Given the description of an element on the screen output the (x, y) to click on. 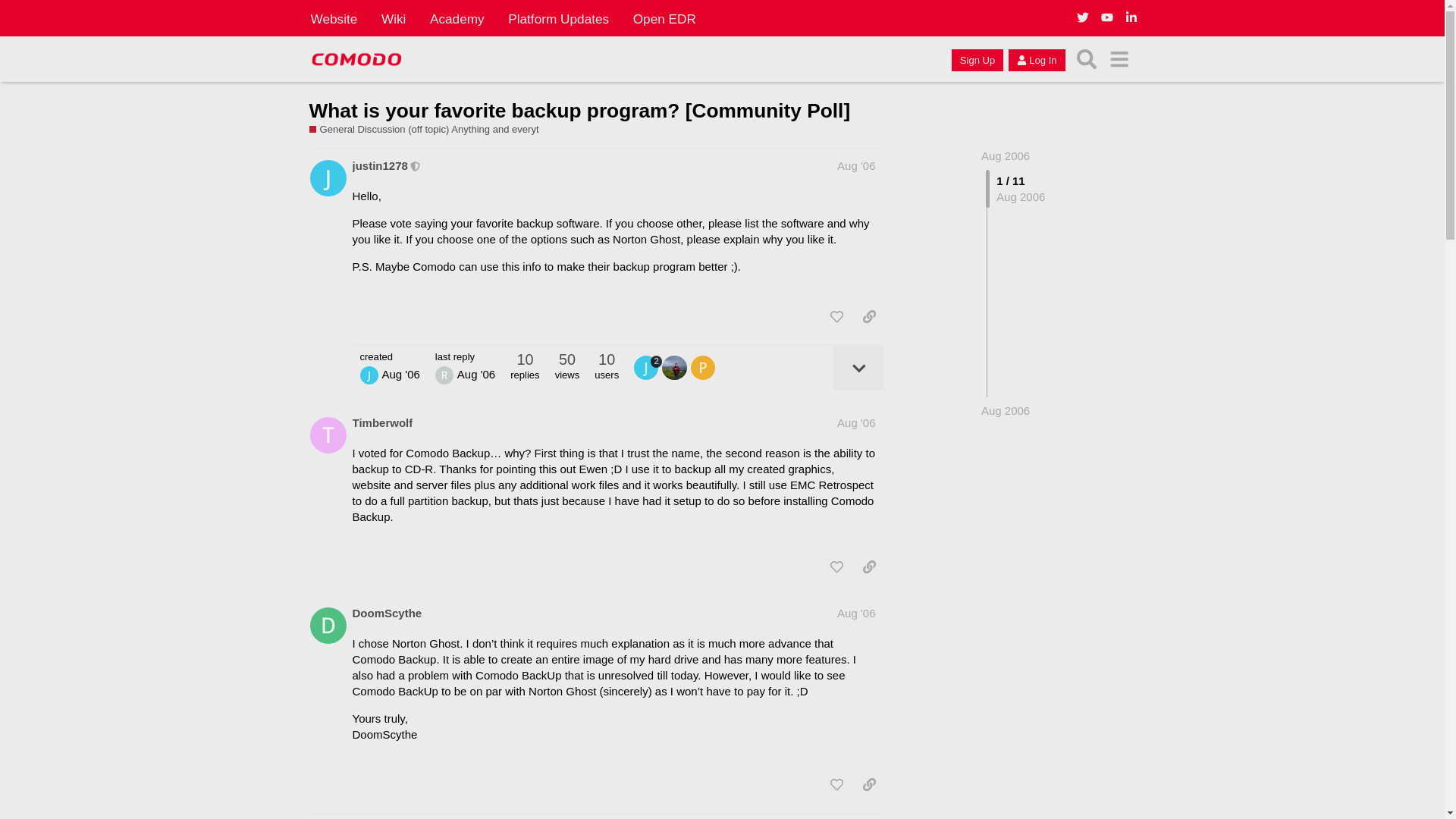
last reply (465, 356)
Platform Updates (558, 18)
Aug 28, 2006 9:12 am (1005, 410)
menu (1119, 59)
Sign Up (977, 60)
2 (647, 367)
Aug 2006 (1005, 155)
Search (1086, 59)
Post date (856, 164)
Aug '06 (856, 422)
Academy (456, 18)
Website (333, 18)
like this post (836, 316)
Aug '06 (856, 164)
Open EDR (664, 18)
